Given the description of an element on the screen output the (x, y) to click on. 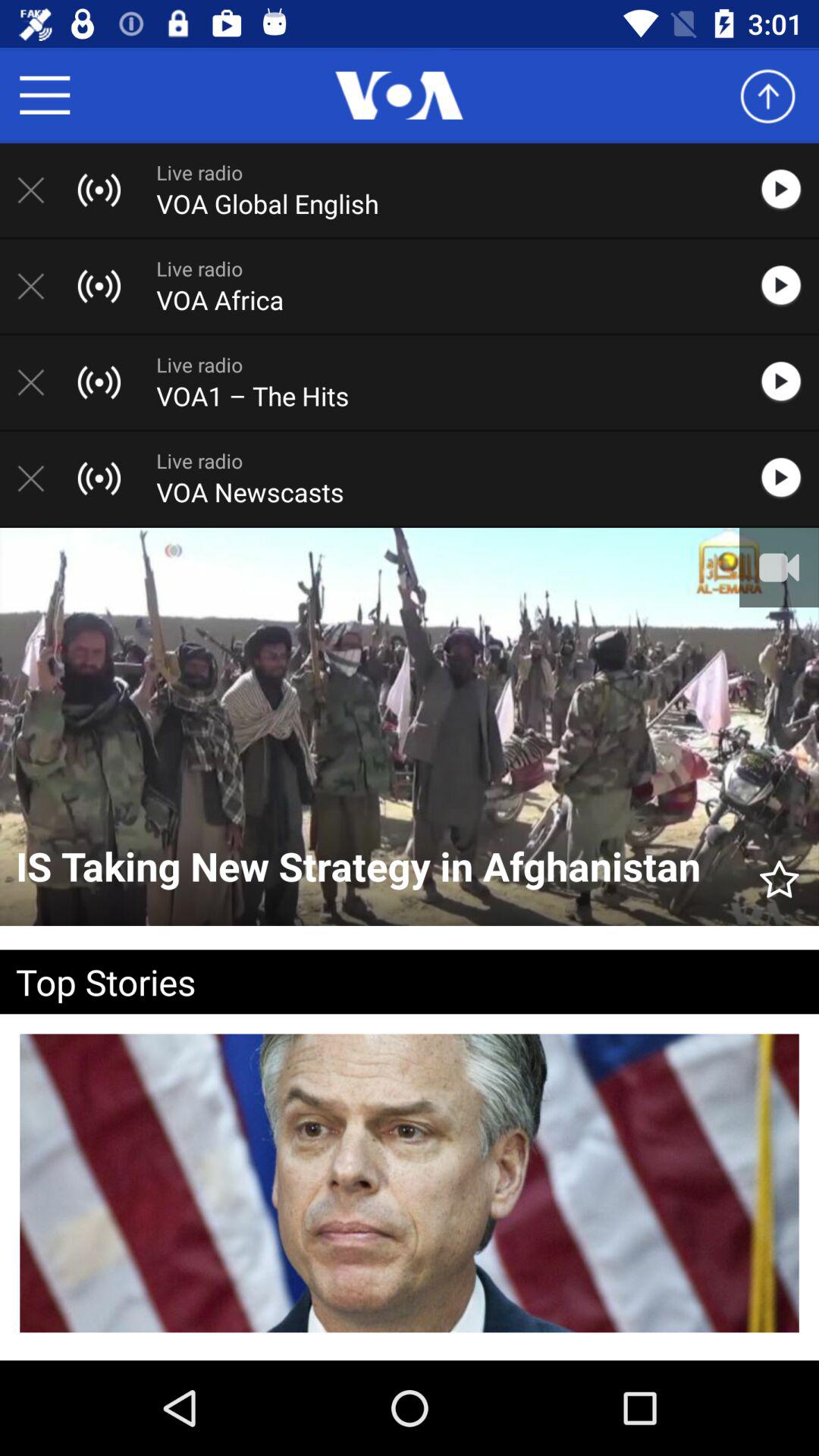
play audio (789, 189)
